Given the description of an element on the screen output the (x, y) to click on. 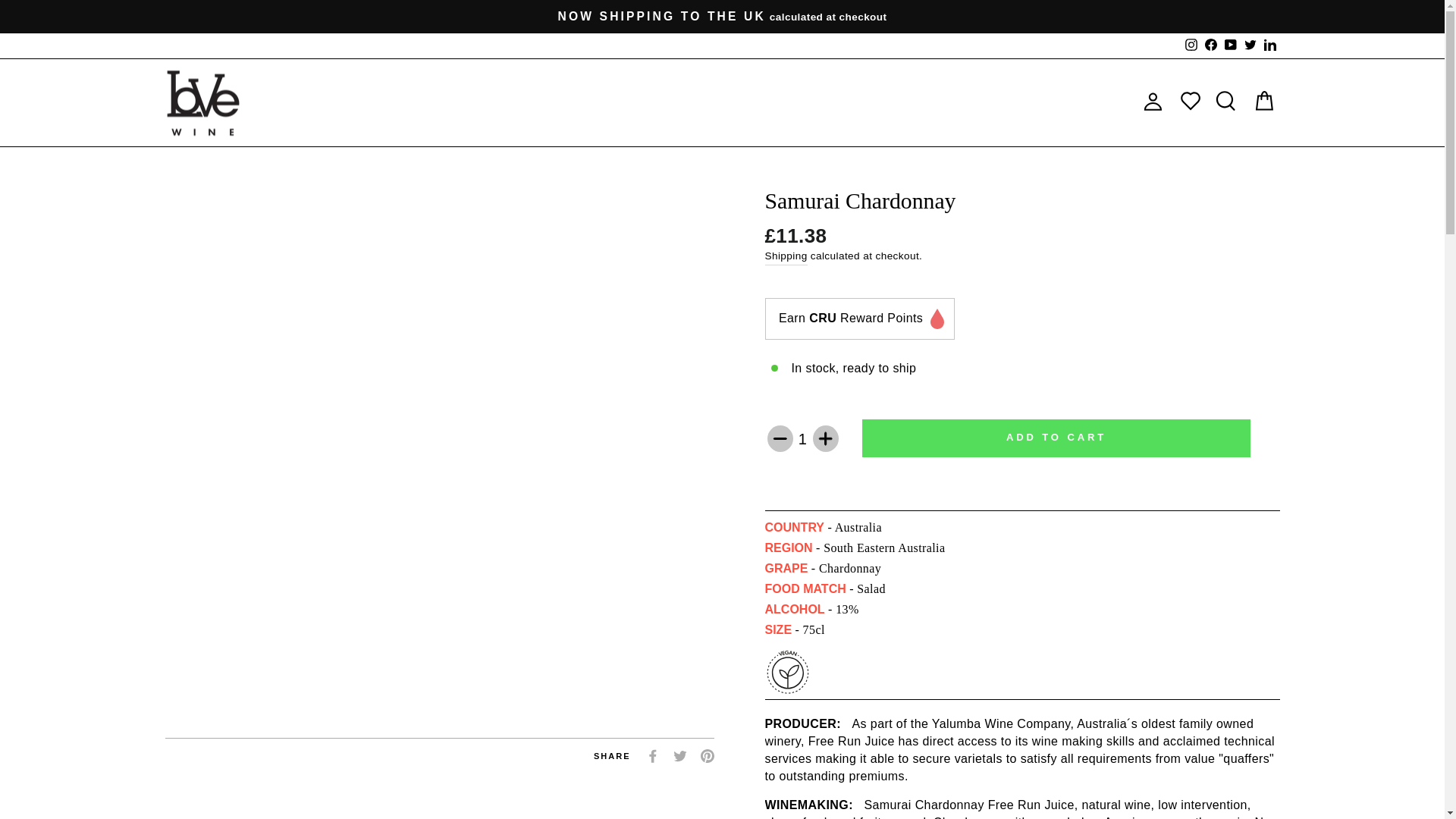
Tweet on Twitter (679, 754)
Love Wine on YouTube (1230, 45)
Pin on Pinterest (707, 754)
Love Wine on LinkedIn (1269, 45)
1 (802, 439)
Love Wine on Twitter (1250, 45)
Share on Facebook (652, 754)
Love Wine on Instagram (1190, 45)
Love Wine on Facebook (1211, 45)
